Given the description of an element on the screen output the (x, y) to click on. 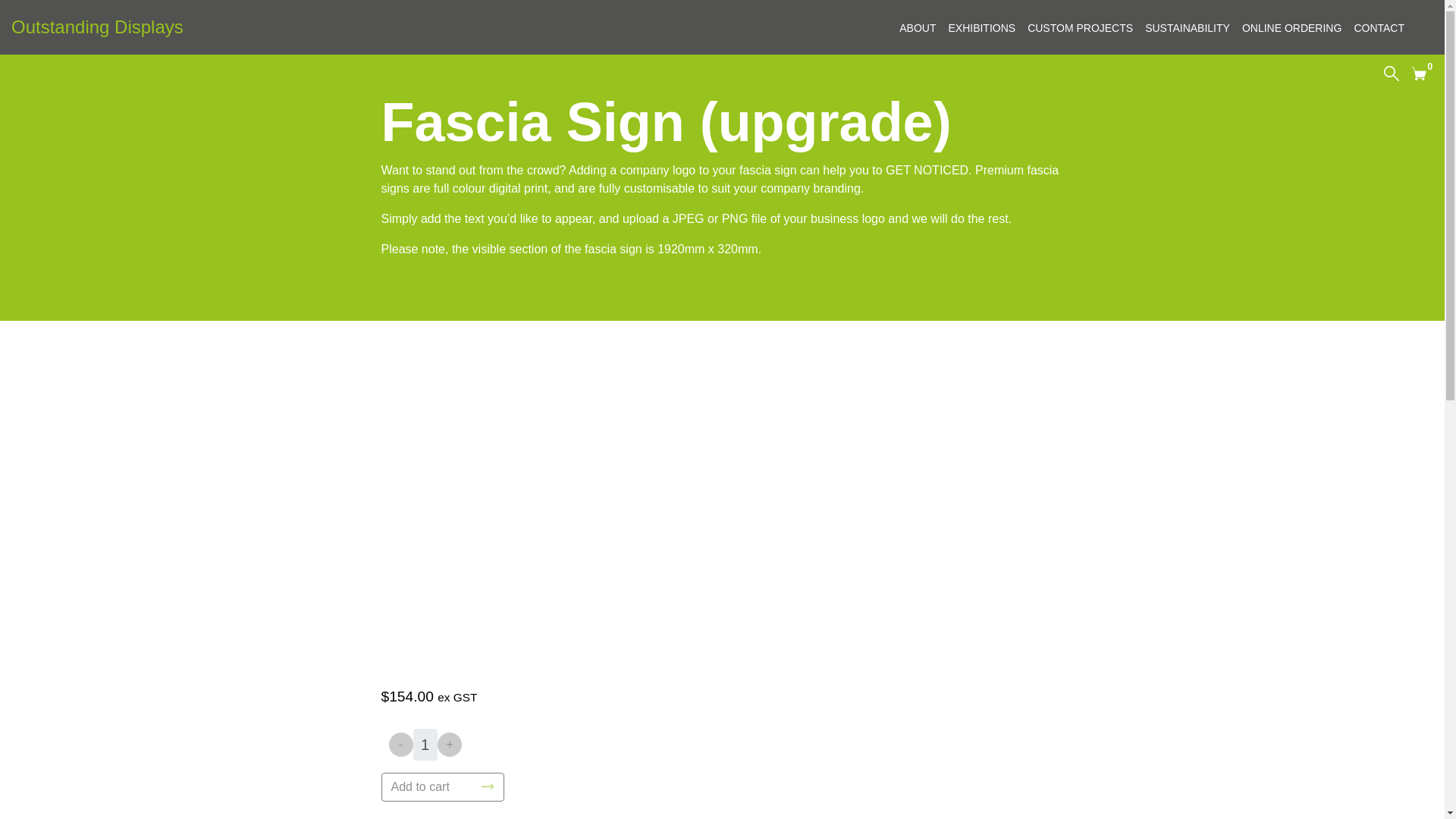
- (400, 744)
SUSTAINABILITY (1418, 72)
Sustainability (1187, 28)
Exhibitions (1187, 28)
EXHIBITIONS (982, 28)
ONLINE ORDERING (982, 28)
Add to cart (1292, 28)
CUSTOM PROJECTS (441, 787)
About (1080, 28)
